Given the description of an element on the screen output the (x, y) to click on. 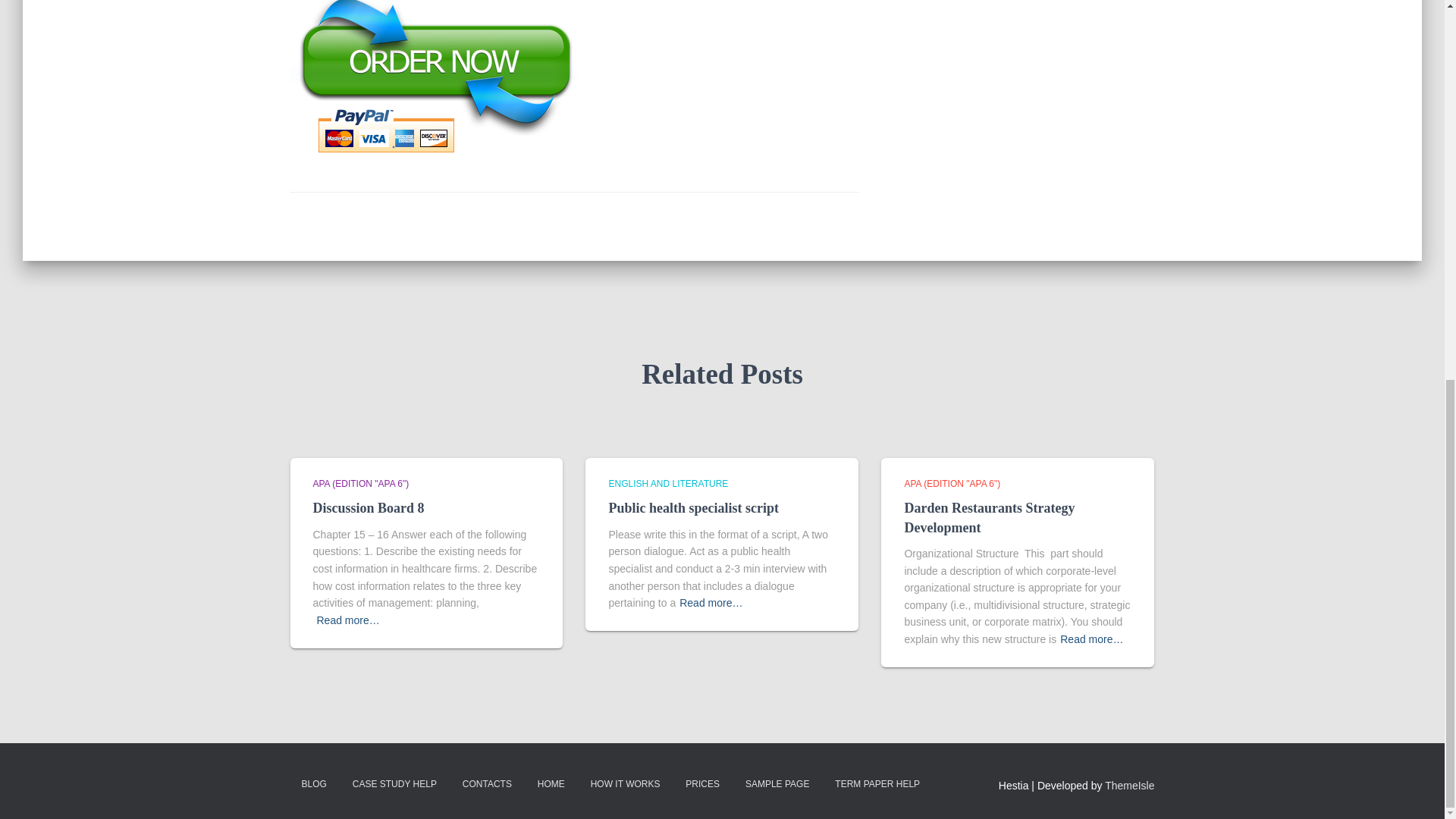
Darden Restaurants Strategy Development (989, 517)
View all posts in English and Literature (668, 483)
Public health specialist script (693, 507)
Discussion Board 8 (368, 507)
